Given the description of an element on the screen output the (x, y) to click on. 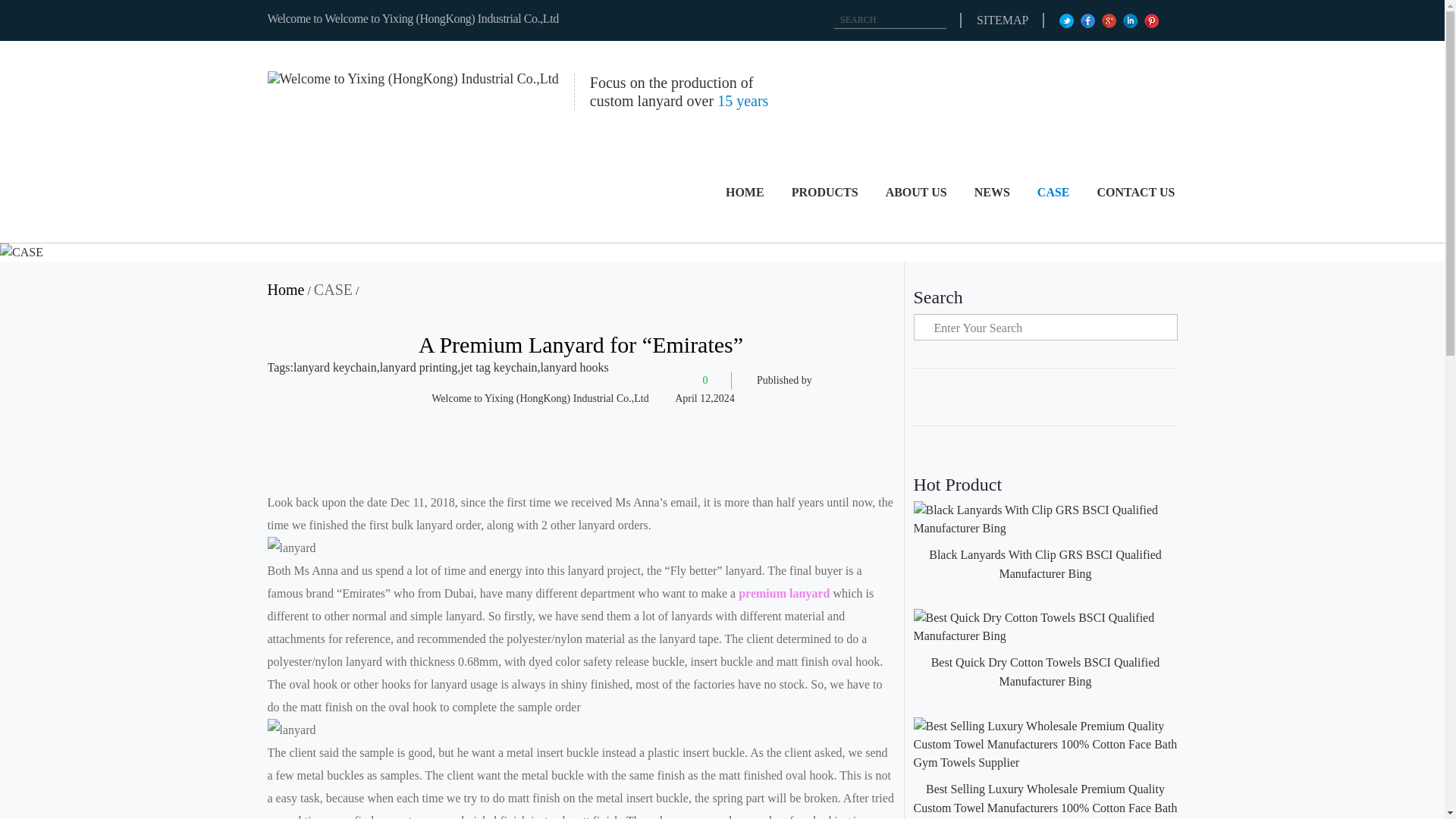
SITEMAP (1001, 20)
facebook (1088, 20)
twitter (1067, 20)
PRODUCTS (824, 191)
linkedin (1131, 20)
PRODUCTS (824, 191)
pinterest (1151, 20)
